Given the description of an element on the screen output the (x, y) to click on. 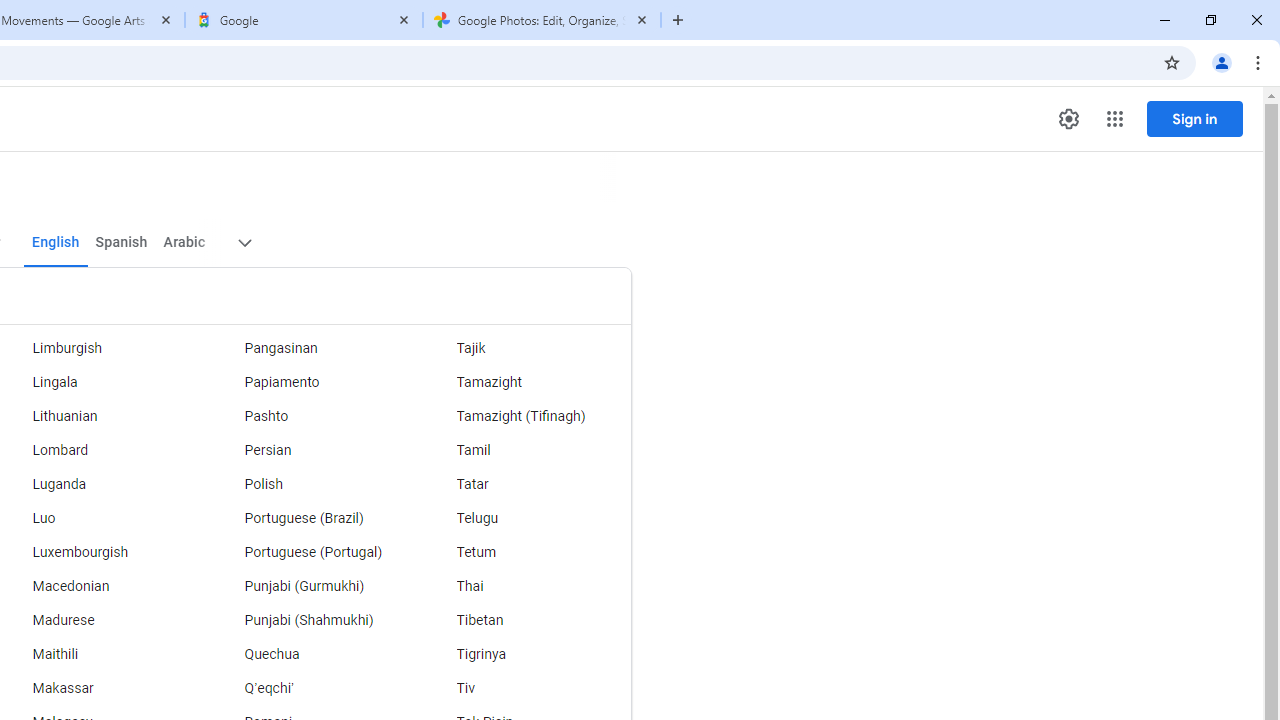
Quechua (312, 655)
Tibetan (525, 620)
Polish (312, 484)
Arabic (183, 242)
Punjabi (Shahmukhi) (312, 620)
Pangasinan (312, 348)
Google (304, 20)
Tatar (525, 484)
Pashto (312, 416)
